Given the description of an element on the screen output the (x, y) to click on. 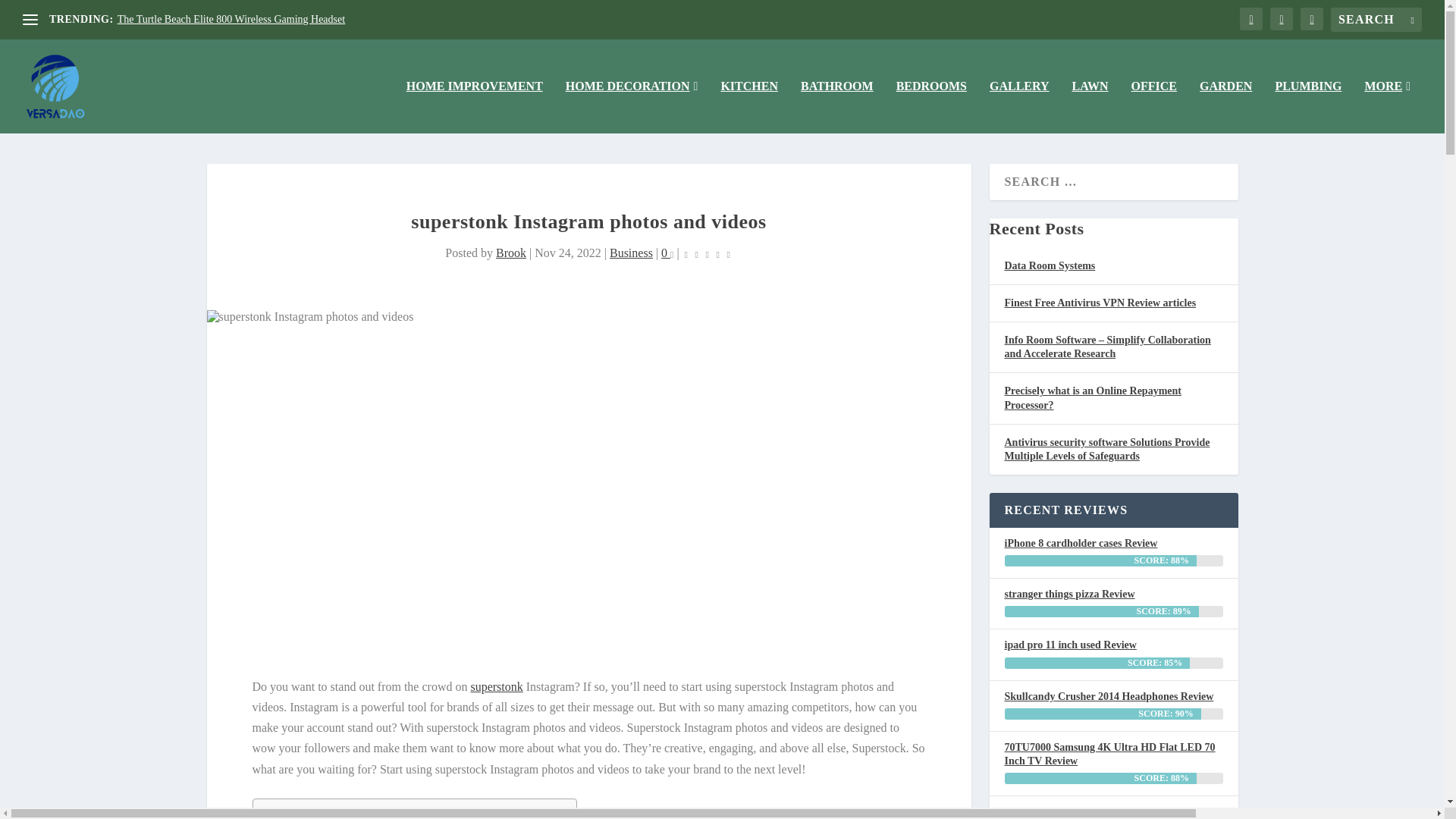
BATHROOM (836, 106)
PLUMBING (1307, 106)
BEDROOMS (931, 106)
HOME IMPROVEMENT (474, 106)
The Turtle Beach Elite 800 Wireless Gaming Headset (231, 19)
GALLERY (1019, 106)
GARDEN (1225, 106)
KITCHEN (748, 106)
Search for: (1376, 19)
HOME DECORATION (632, 106)
